Given the description of an element on the screen output the (x, y) to click on. 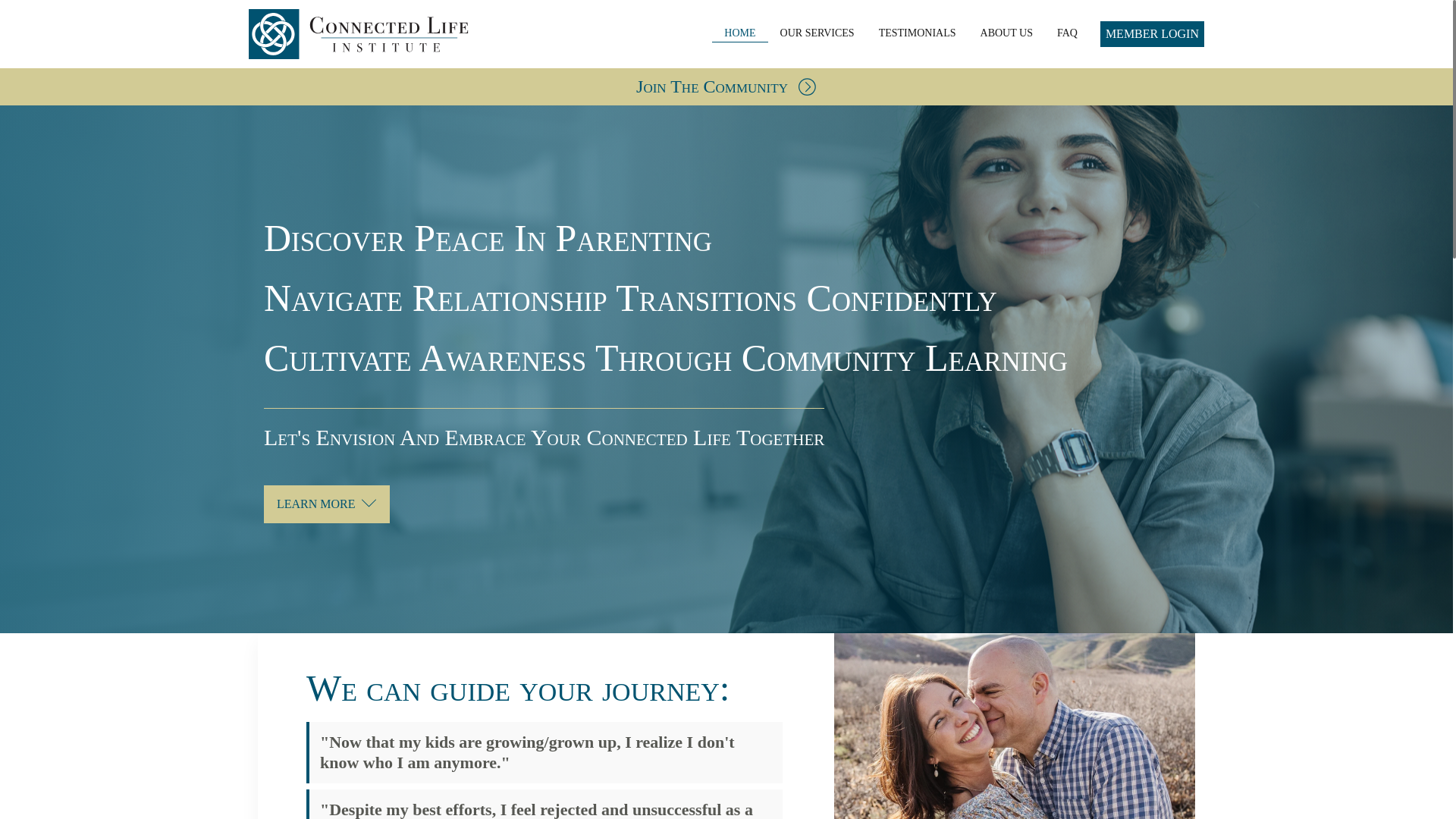
MEMBER LOGIN (1152, 33)
LEARN MORE (326, 504)
ABOUT US (1006, 33)
TESTIMONIALS (917, 33)
OUR SERVICES (817, 33)
FAQ (1067, 33)
HOME (739, 33)
